Given the description of an element on the screen output the (x, y) to click on. 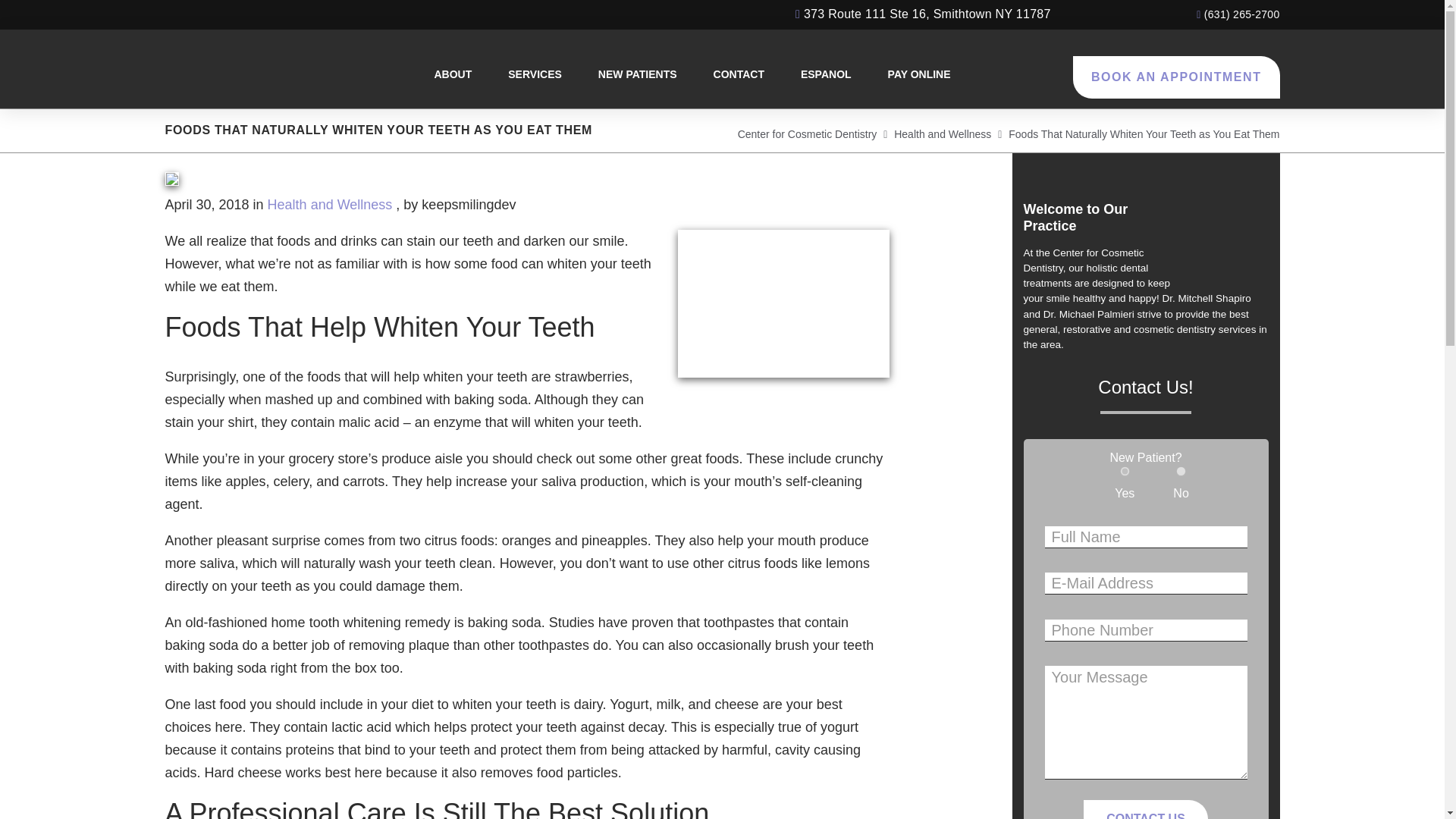
No (1181, 470)
Dental friendly foods that help whiten your teeth.  (783, 303)
NEW PATIENTS (637, 74)
CONTACT (739, 74)
PAY ONLINE (919, 74)
Yes (1124, 470)
373 Route 111 Ste 16, Smithtown NY 11787 (922, 14)
Contact Us (1145, 809)
ESPANOL (826, 74)
SERVICES (534, 74)
